Given the description of an element on the screen output the (x, y) to click on. 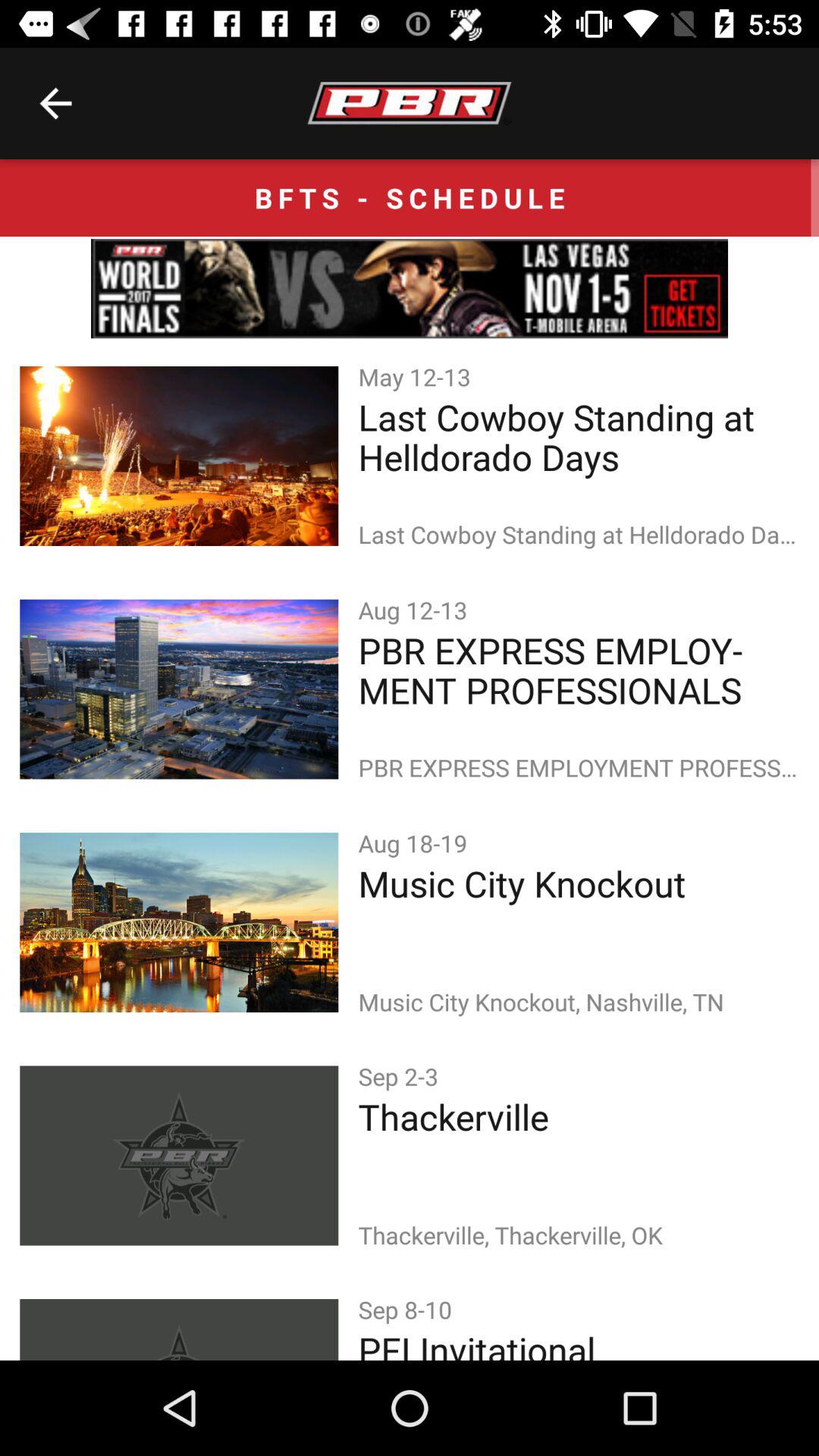
select the icon below the music city knockout icon (401, 1076)
